Given the description of an element on the screen output the (x, y) to click on. 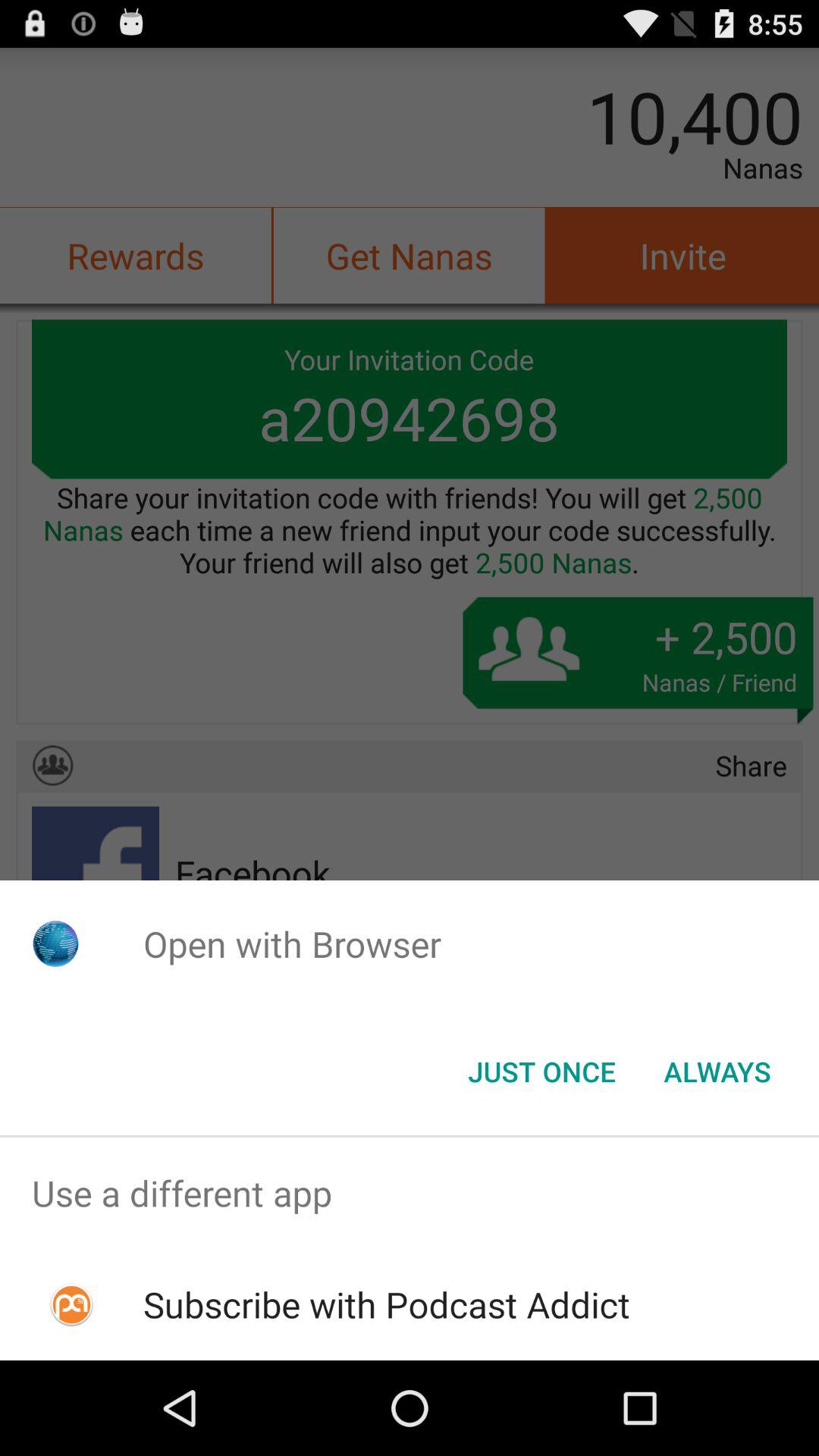
turn on the item below open with browser item (541, 1071)
